Given the description of an element on the screen output the (x, y) to click on. 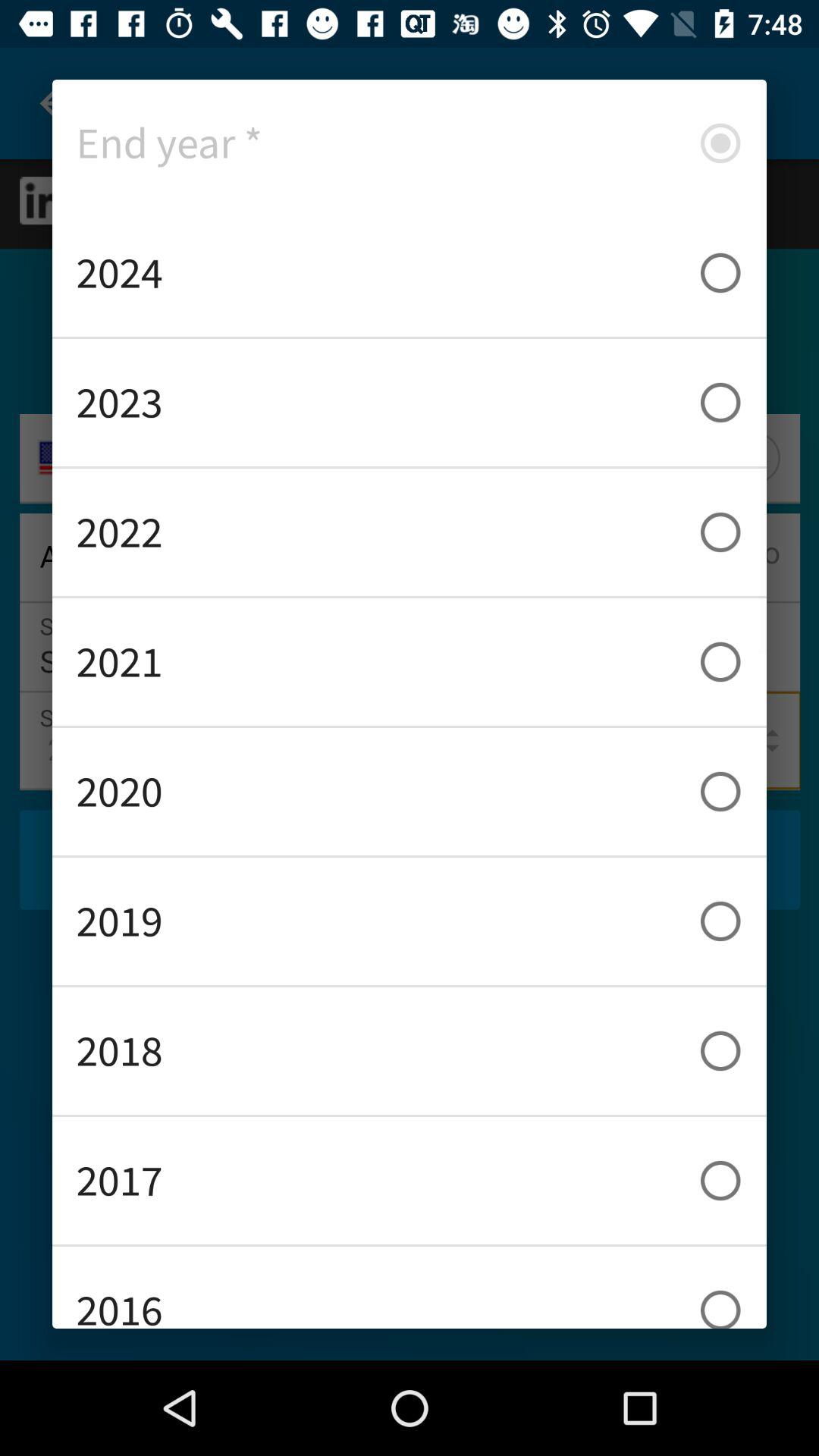
turn on icon below end year * icon (409, 272)
